Given the description of an element on the screen output the (x, y) to click on. 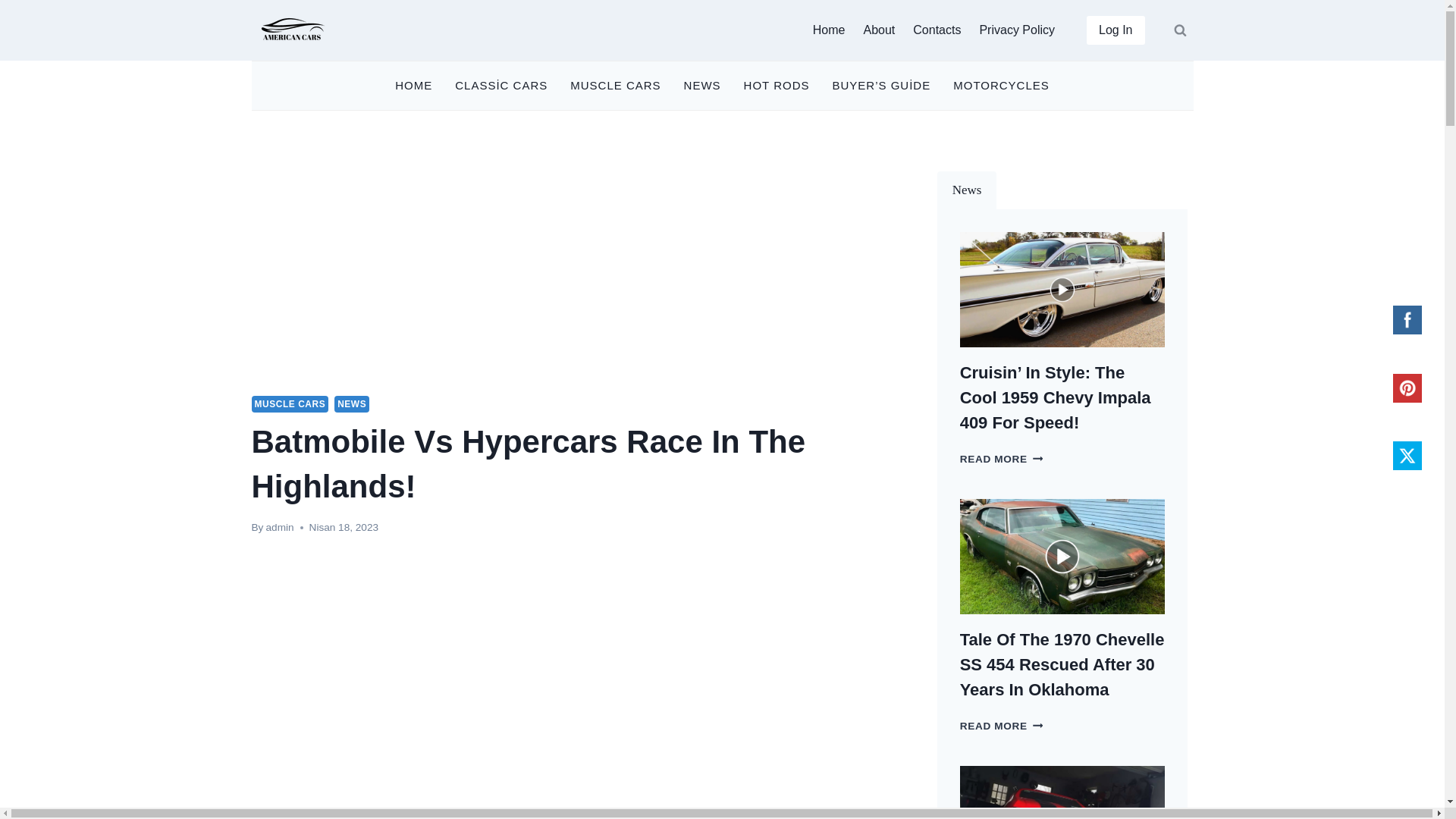
Log In (1115, 30)
MUSCLE CARS (615, 85)
Privacy Policy (1016, 30)
Home (828, 30)
MUSCLE CARS (290, 403)
HOME (414, 85)
CLASSIC CARS (501, 85)
admin (280, 527)
Contacts (936, 30)
Advertisement (571, 798)
About (878, 30)
HOT RODS (776, 85)
MOTORCYCLES (1001, 85)
